Given the description of an element on the screen output the (x, y) to click on. 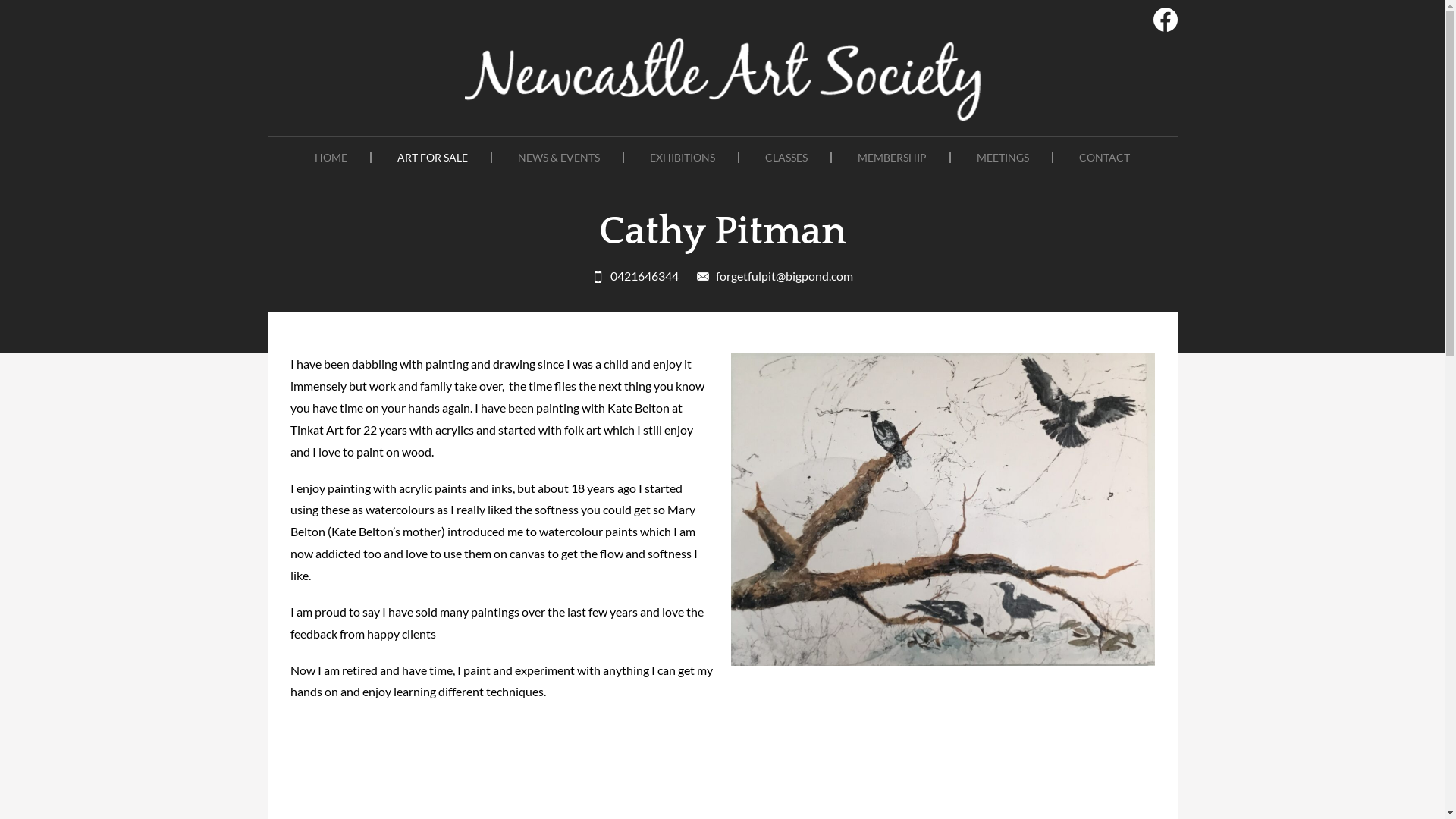
HOME Element type: text (331, 157)
NEWS & EVENTS Element type: text (559, 157)
MEETINGS Element type: text (1003, 157)
CONTACT Element type: text (1104, 157)
CLASSES Element type: text (786, 157)
MEMBERSHIP Element type: text (892, 157)
forgetfulpit@bigpond.com Element type: text (774, 275)
ART FOR SALE Element type: text (433, 157)
EXHIBITIONS Element type: text (683, 157)
0421646344 Element type: text (634, 275)
